Given the description of an element on the screen output the (x, y) to click on. 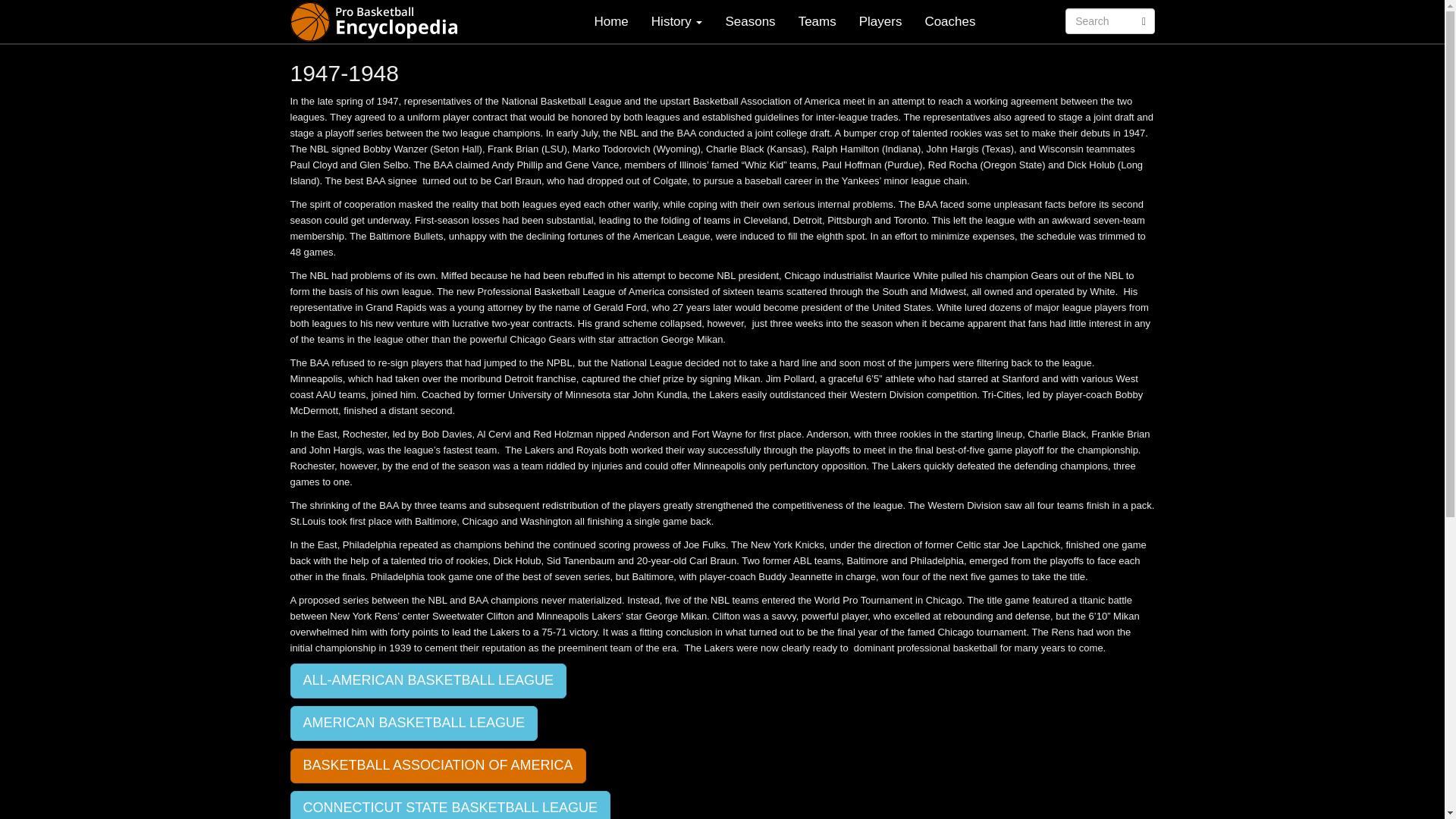
Coaches (949, 21)
ALL-AMERICAN BASKETBALL LEAGUE (427, 680)
Players (880, 21)
Teams (817, 21)
Home (610, 21)
Pro Basketball Encyclopedia (378, 20)
AMERICAN BASKETBALL LEAGUE (413, 723)
History (677, 21)
Seasons (749, 21)
CONNECTICUT STATE BASKETBALL LEAGUE (449, 805)
BASKETBALL ASSOCIATION OF AMERICA (437, 765)
